Given the description of an element on the screen output the (x, y) to click on. 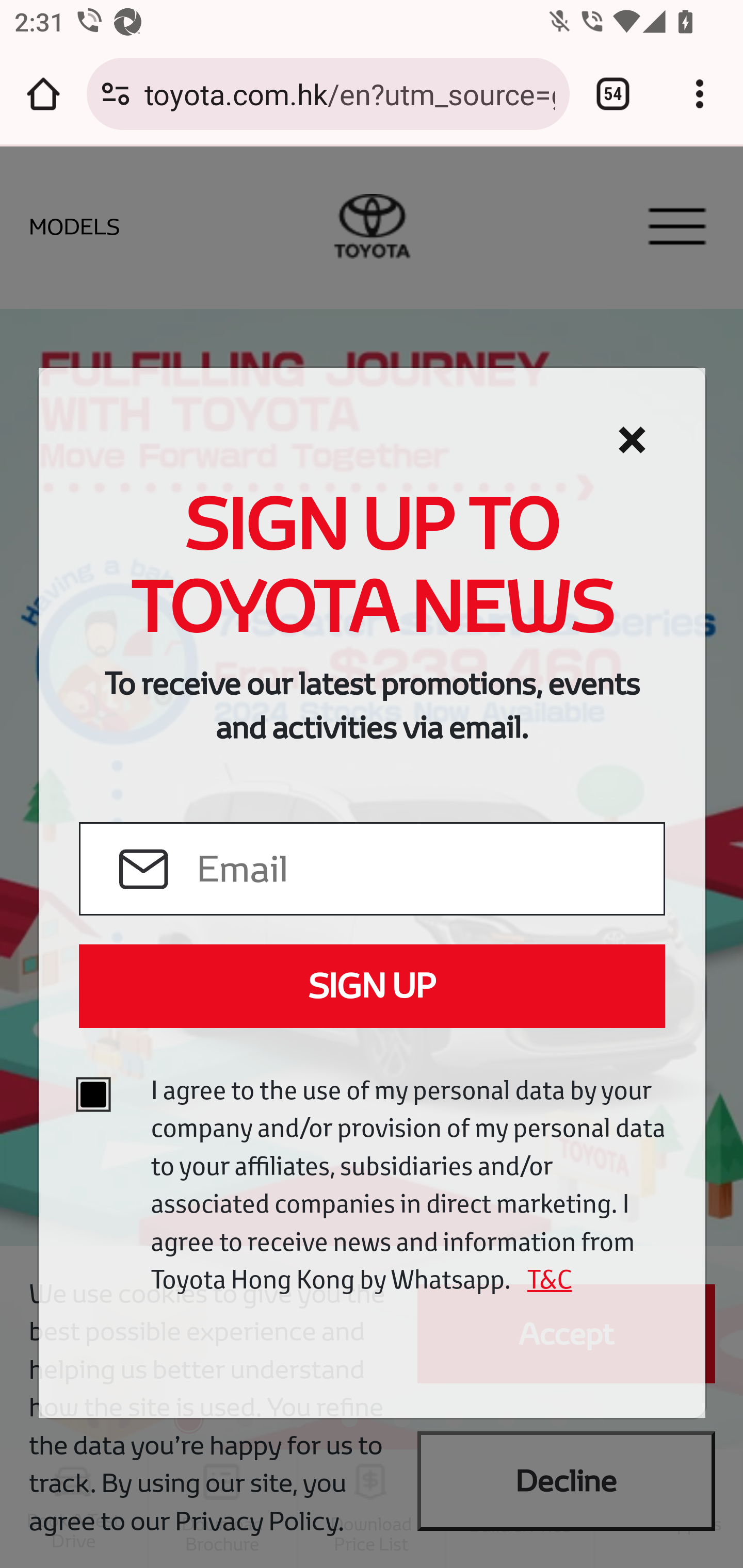
Open the home page (43, 93)
Connection is secure (115, 93)
Switch or close tabs (612, 93)
Customize and control Google Chrome (699, 93)
Cerrar (631, 440)
SIGN UP (371, 985)
T&C (543, 1279)
